Given the description of an element on the screen output the (x, y) to click on. 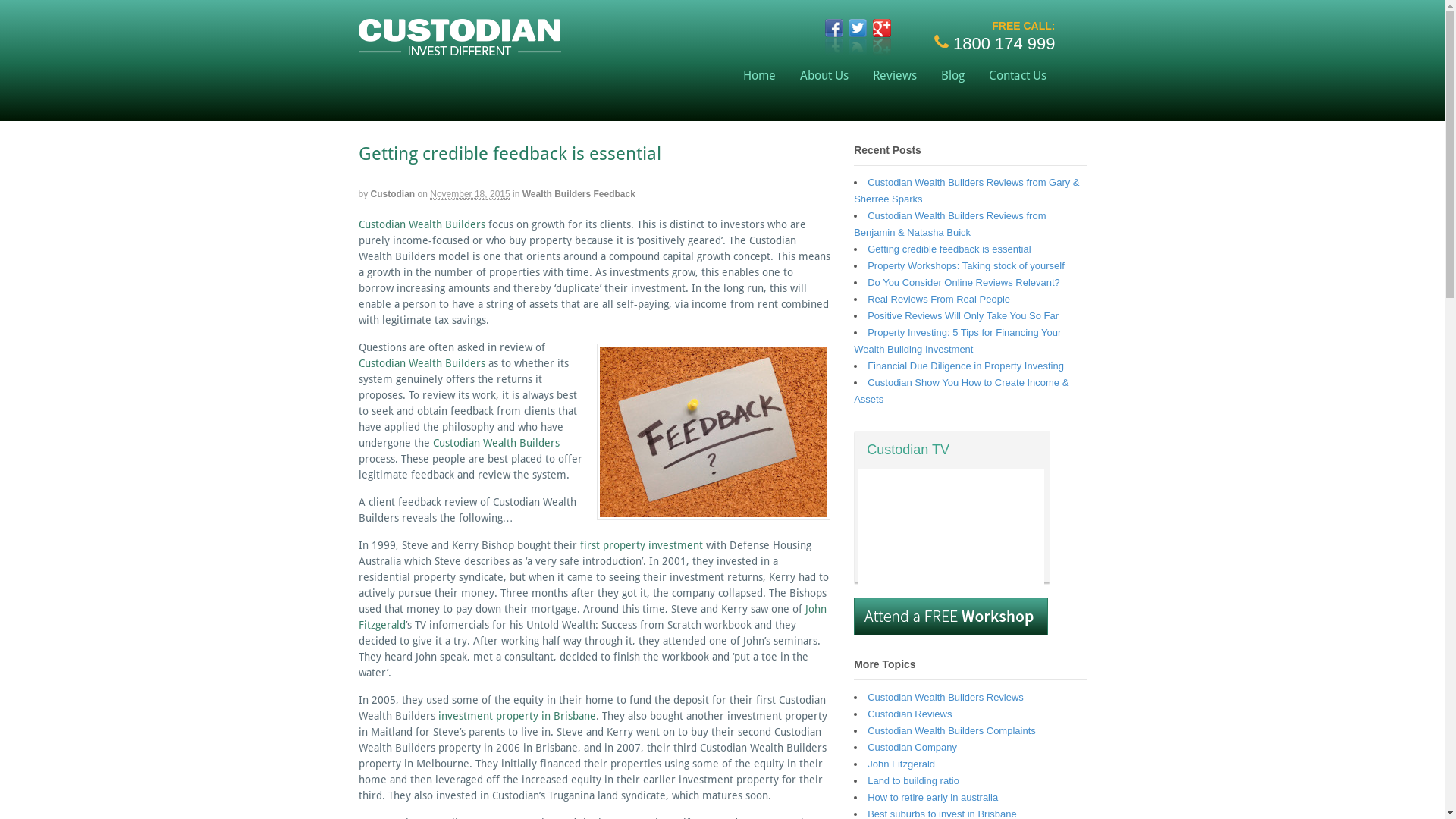
Custodian Company Element type: text (912, 747)
Getting credible feedback is essential Element type: text (948, 248)
Financial Due Diligence in Property Investing Element type: text (965, 365)
Custodian Wealth Builders Element type: text (422, 363)
Custodian Reviews Element type: text (909, 713)
Custodian Wealth Builders Element type: text (420, 224)
Land to building ratio Element type: text (913, 780)
How to retire early in australia Element type: text (932, 797)
Custodian Show You How to Create Income & Assets Element type: text (960, 390)
Custodian Wealth Builders Element type: text (495, 442)
Reviews Element type: text (894, 75)
Positive Reviews Will Only Take You So Far Element type: text (962, 315)
first property investment Element type: text (640, 545)
Wealth Builders Feedback Element type: text (578, 193)
Custodian Element type: text (392, 193)
Property Workshops: Taking stock of yourself Element type: text (965, 265)
About Us Element type: text (823, 75)
John Fitzgerald Element type: text (901, 763)
Property Investment Element type: hover (458, 48)
Contact Us Element type: text (1017, 75)
Blog Element type: text (952, 75)
Do You Consider Online Reviews Relevant? Element type: text (963, 282)
Custodian Wealth Builders Reviews Element type: text (945, 696)
investment property in Brisbane Element type: text (517, 715)
Custodian Wealth Builders Reviews from Gary & Sherree Sparks Element type: text (966, 190)
John Fitzgerald Element type: text (591, 616)
Home Element type: text (759, 75)
Real Reviews From Real People Element type: text (938, 298)
Custodian Wealth Builders Complaints Element type: text (951, 730)
